Given the description of an element on the screen output the (x, y) to click on. 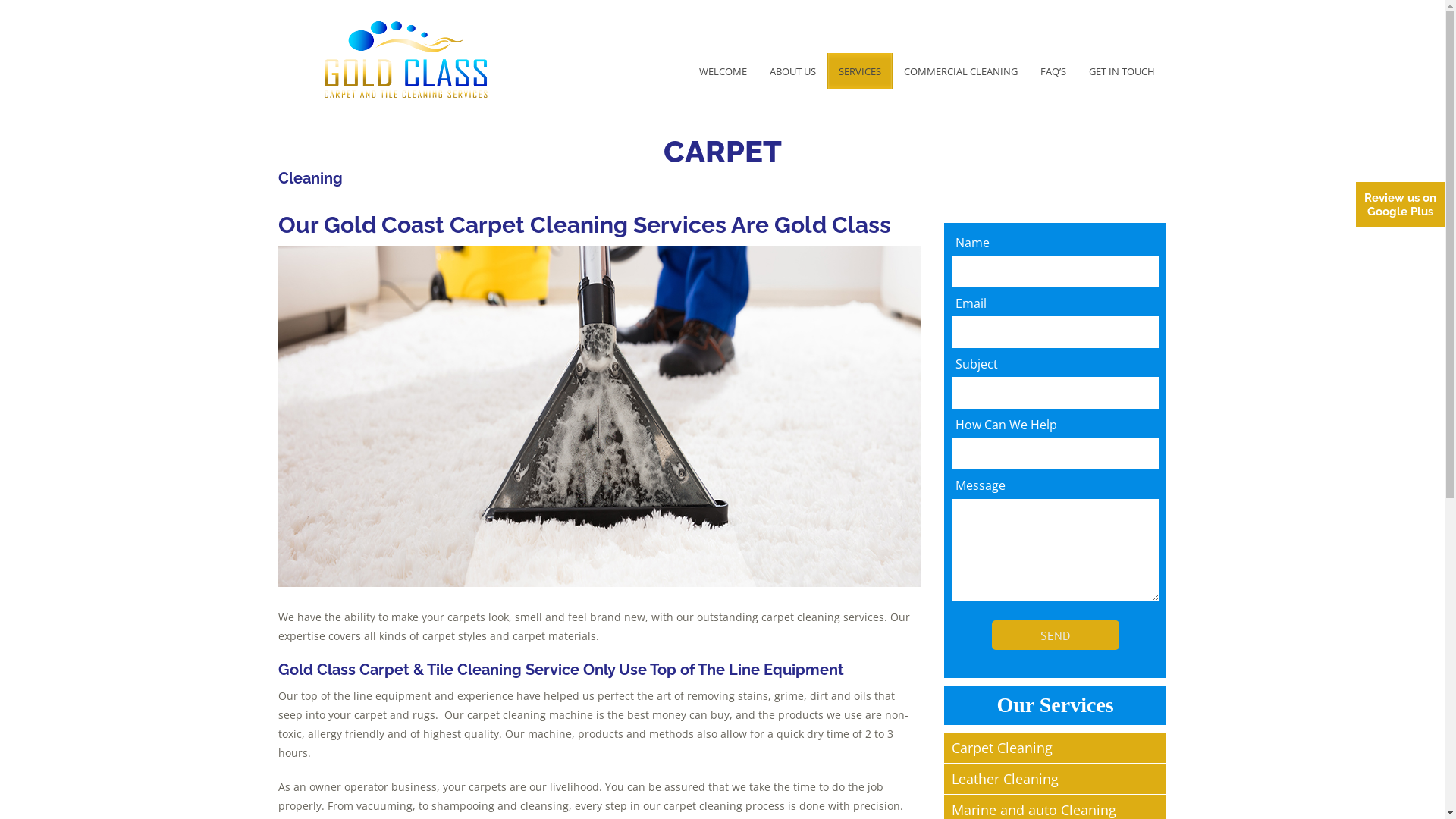
ABOUT US Element type: text (792, 71)
SERVICES Element type: text (859, 71)
GET IN TOUCH Element type: text (1121, 71)
Leather Cleaning Element type: text (1055, 778)
WELCOME Element type: text (722, 71)
COMMERCIAL CLEANING Element type: text (960, 71)
Send Element type: text (1055, 634)
Review us on
Google Plus Element type: text (1399, 204)
Carpet Cleaning Element type: text (1055, 747)
